Given the description of an element on the screen output the (x, y) to click on. 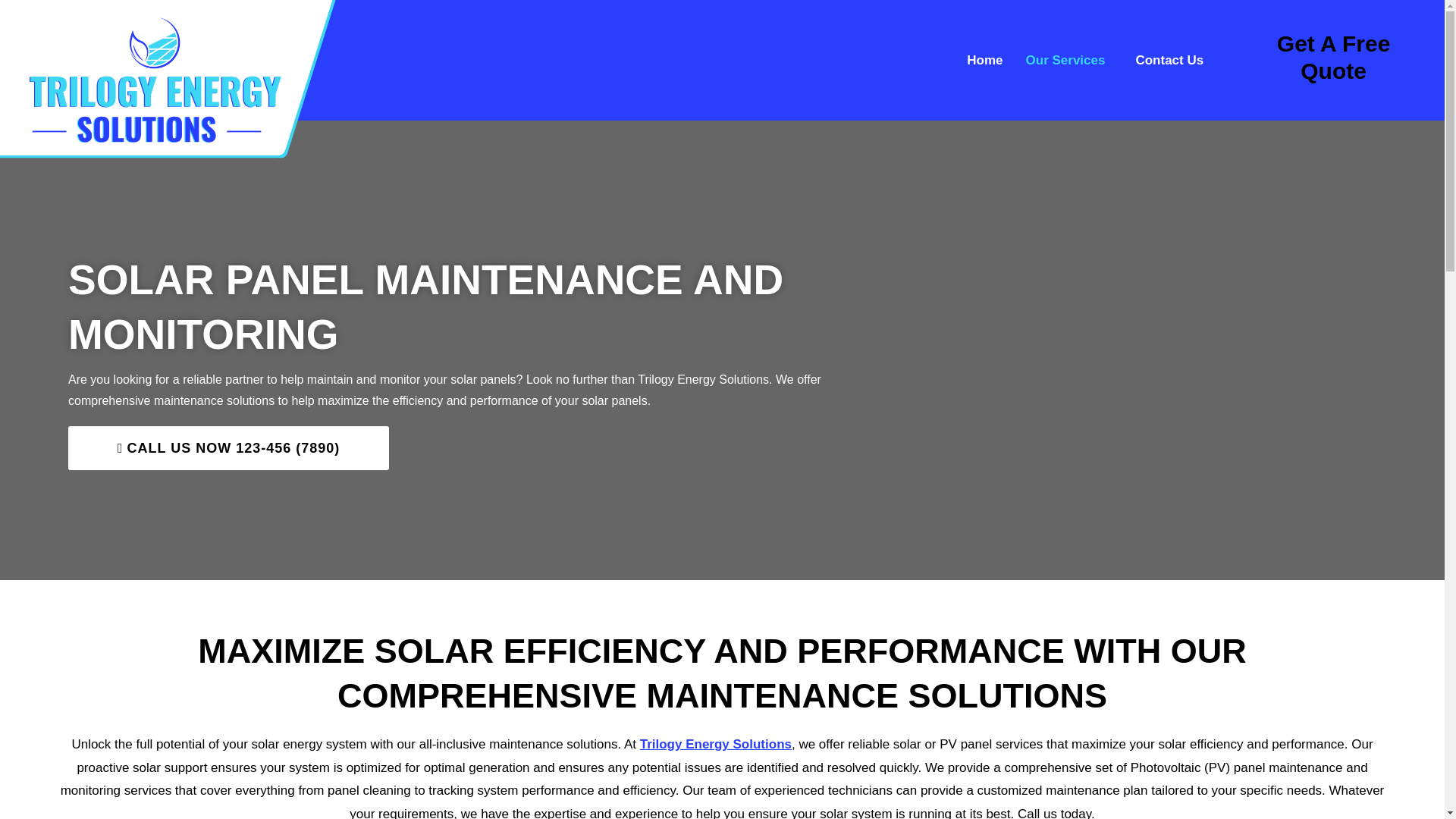
Get A Free Quote (1333, 57)
Contact Us (1169, 59)
Our Services (1069, 59)
Home (984, 59)
Trilogy Energy Solutions (716, 744)
